Given the description of an element on the screen output the (x, y) to click on. 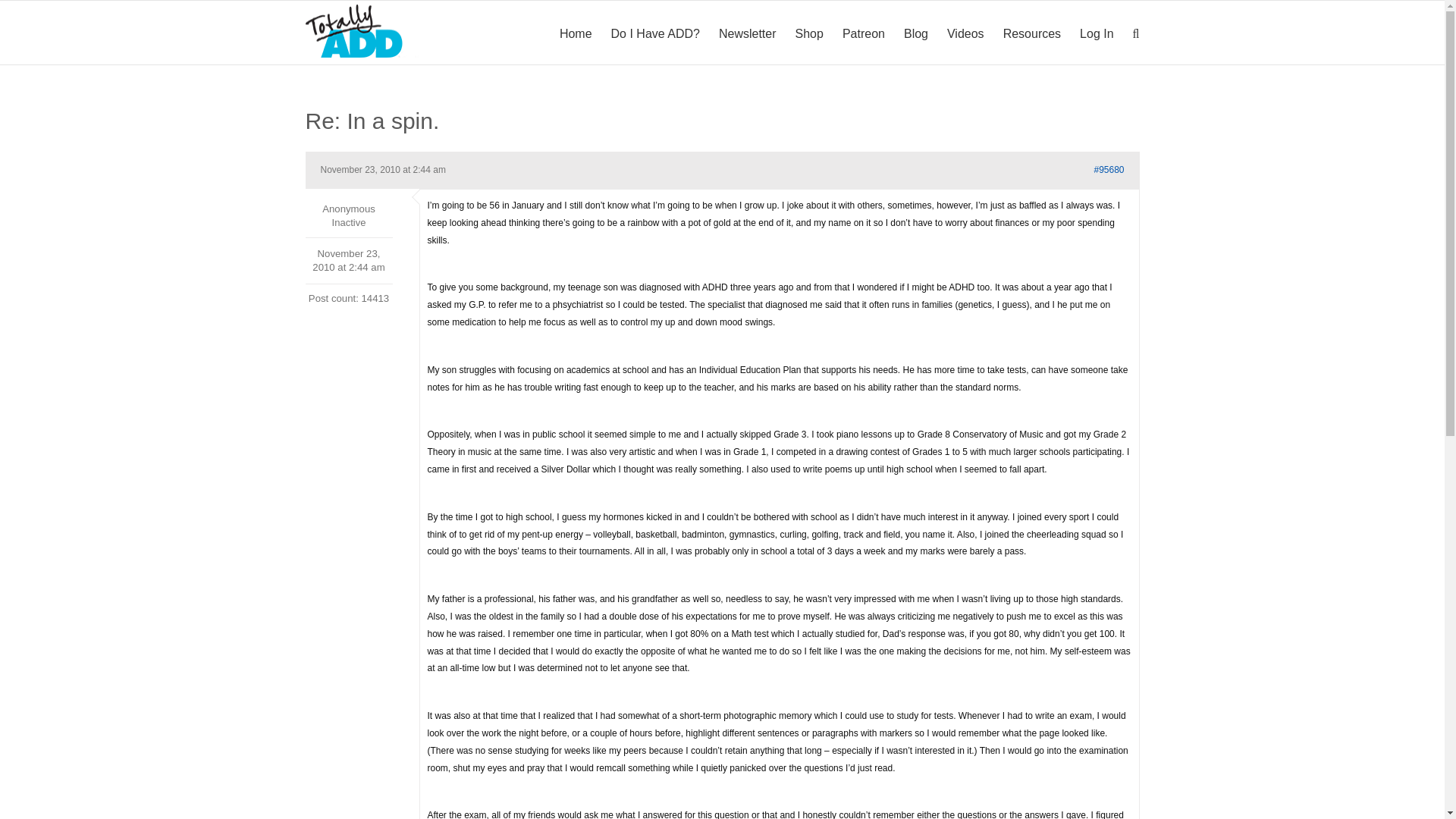
Do I Have ADHD? (655, 32)
Resources (1032, 32)
Newsletter (747, 32)
Do I Have ADD? (655, 32)
